Given the description of an element on the screen output the (x, y) to click on. 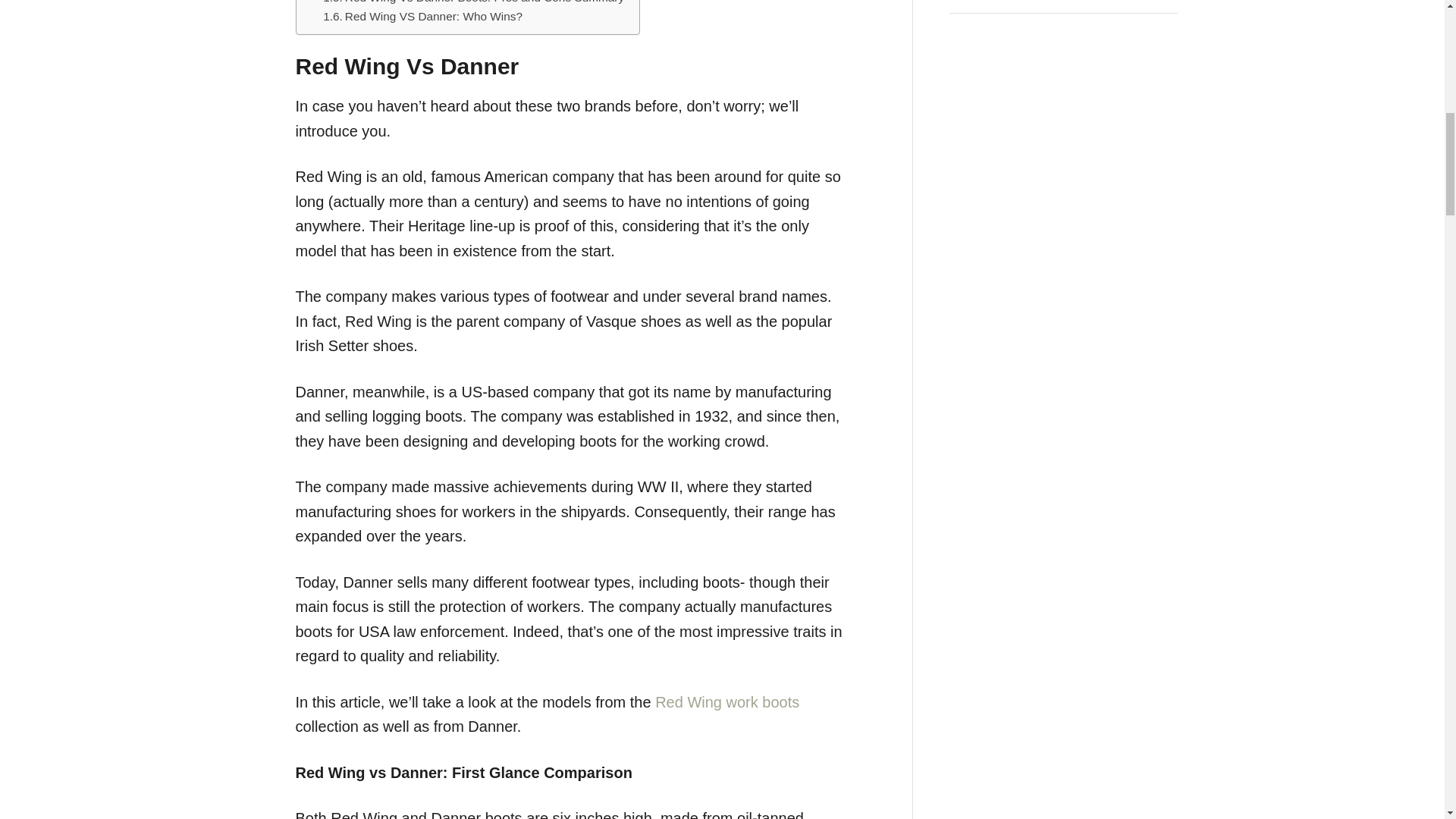
Red Wing work boots (727, 701)
Red Wing Vs Danner Boots: Pros and Cons Summary (473, 3)
Red Wing Vs Danner Boots: Pros and Cons Summary (473, 3)
Red Wing VS Danner: Who Wins? (422, 16)
Red Wing VS Danner: Who Wins? (422, 16)
